Given the description of an element on the screen output the (x, y) to click on. 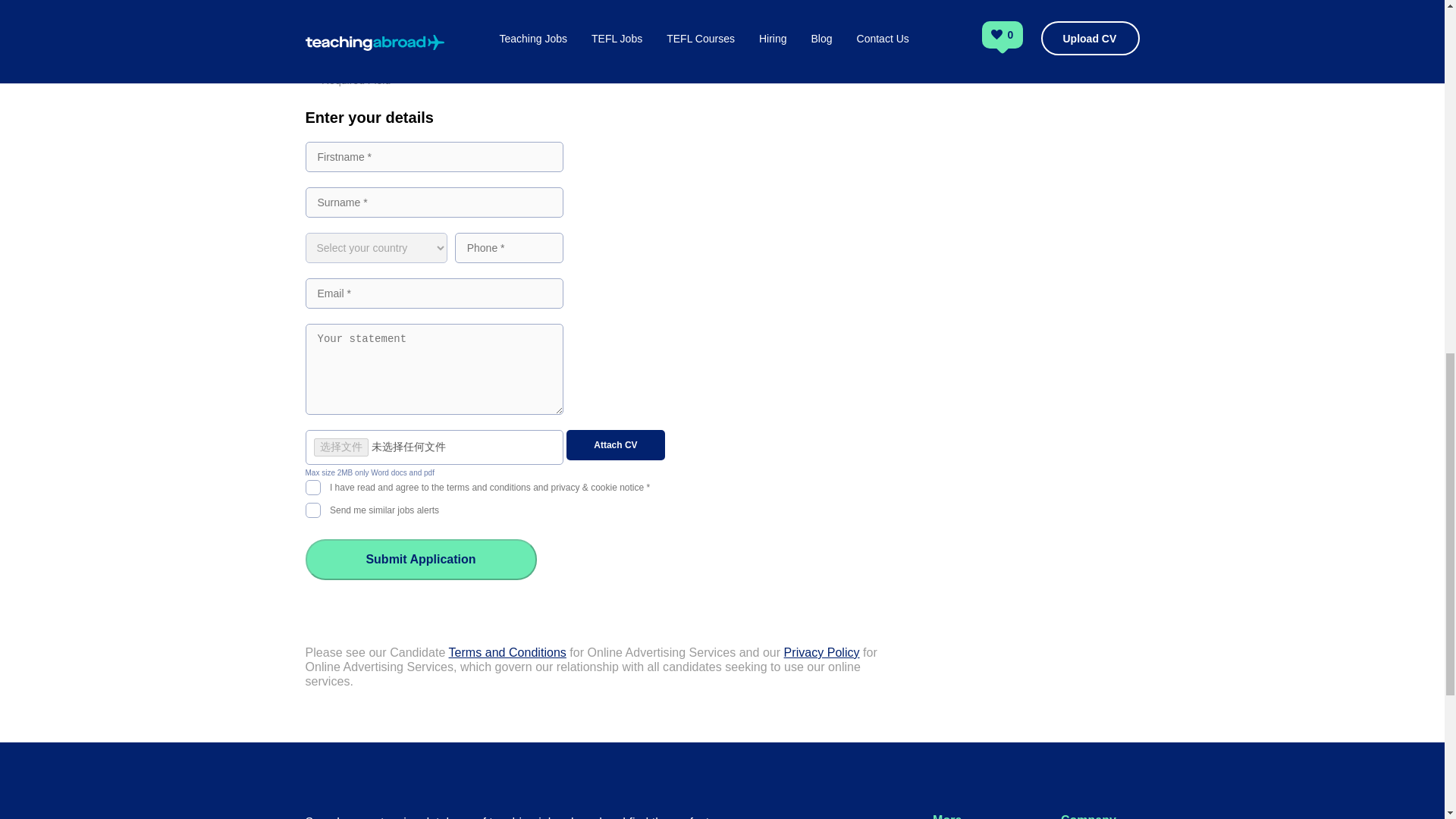
Submit Application (419, 558)
Privacy Policy (822, 652)
Terms and Conditions (507, 652)
Please see our Candidate (376, 652)
on (312, 508)
on (312, 485)
